Given the description of an element on the screen output the (x, y) to click on. 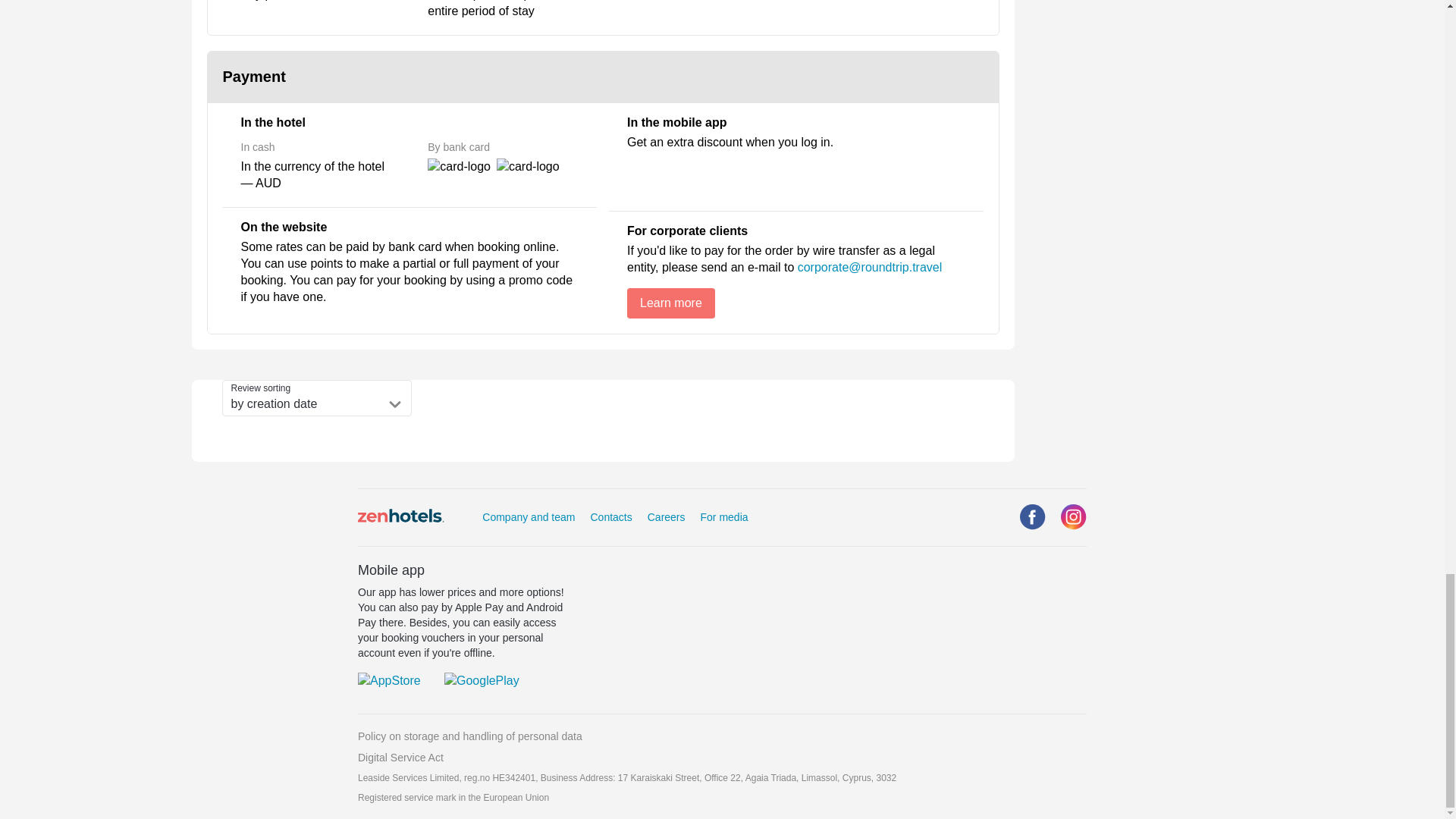
Digital Service Act (722, 757)
Company and team (528, 517)
Learn more (670, 303)
Contacts (610, 517)
For media (724, 517)
Policy on storage and handling of personal data (722, 735)
Careers (666, 517)
